Given the description of an element on the screen output the (x, y) to click on. 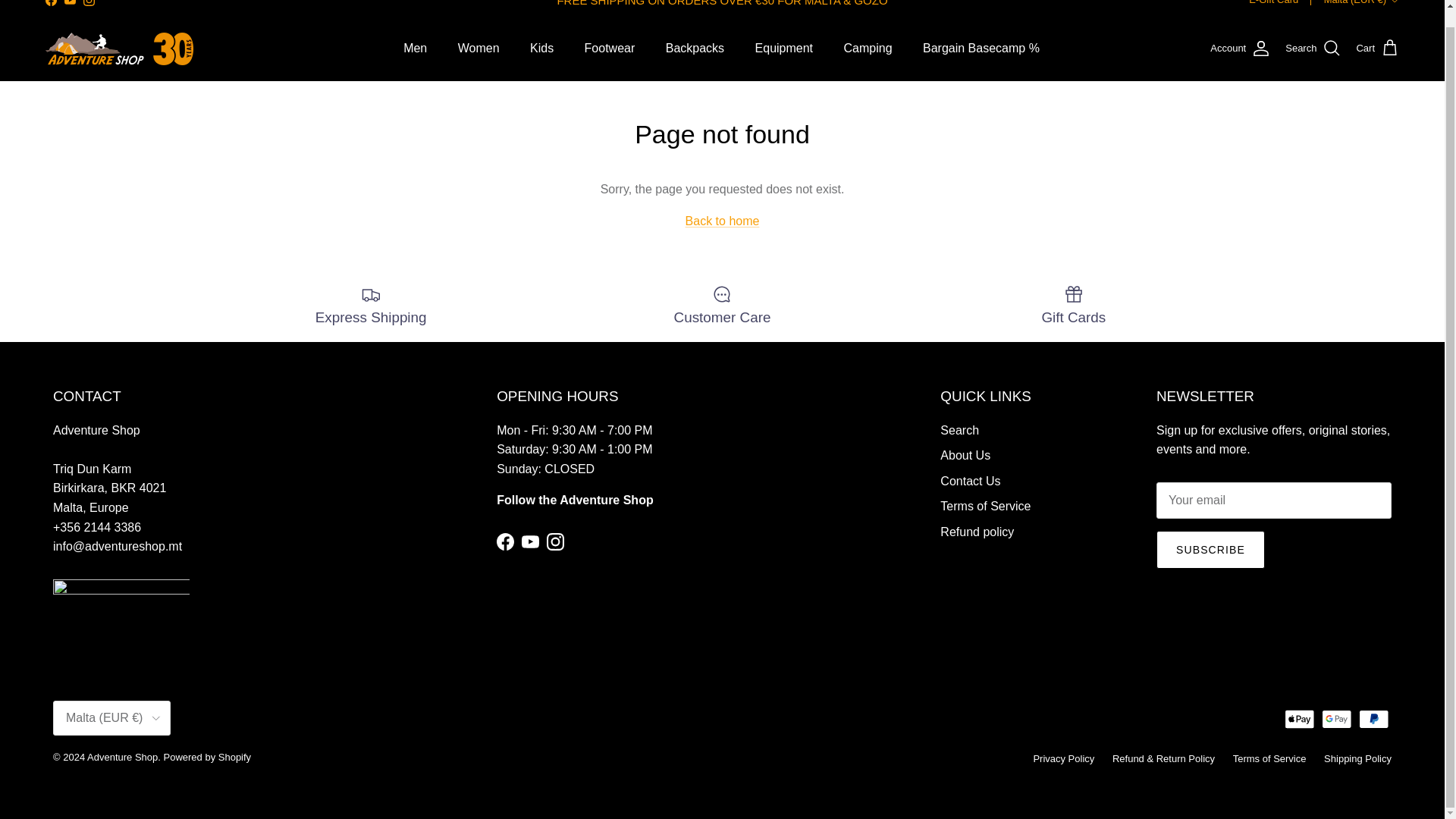
PayPal (1373, 719)
Men (415, 48)
Cart (1377, 48)
Adventure Shop on YouTube (529, 541)
Adventure Shop on Facebook (50, 2)
Kids (541, 48)
Facebook (50, 2)
Equipment (784, 48)
Women (478, 48)
Google Pay (1336, 719)
Instagram (88, 2)
Adventure Shop (119, 48)
Footwear (609, 48)
Backpacks (695, 48)
Adventure Shop on Facebook (504, 541)
